Given the description of an element on the screen output the (x, y) to click on. 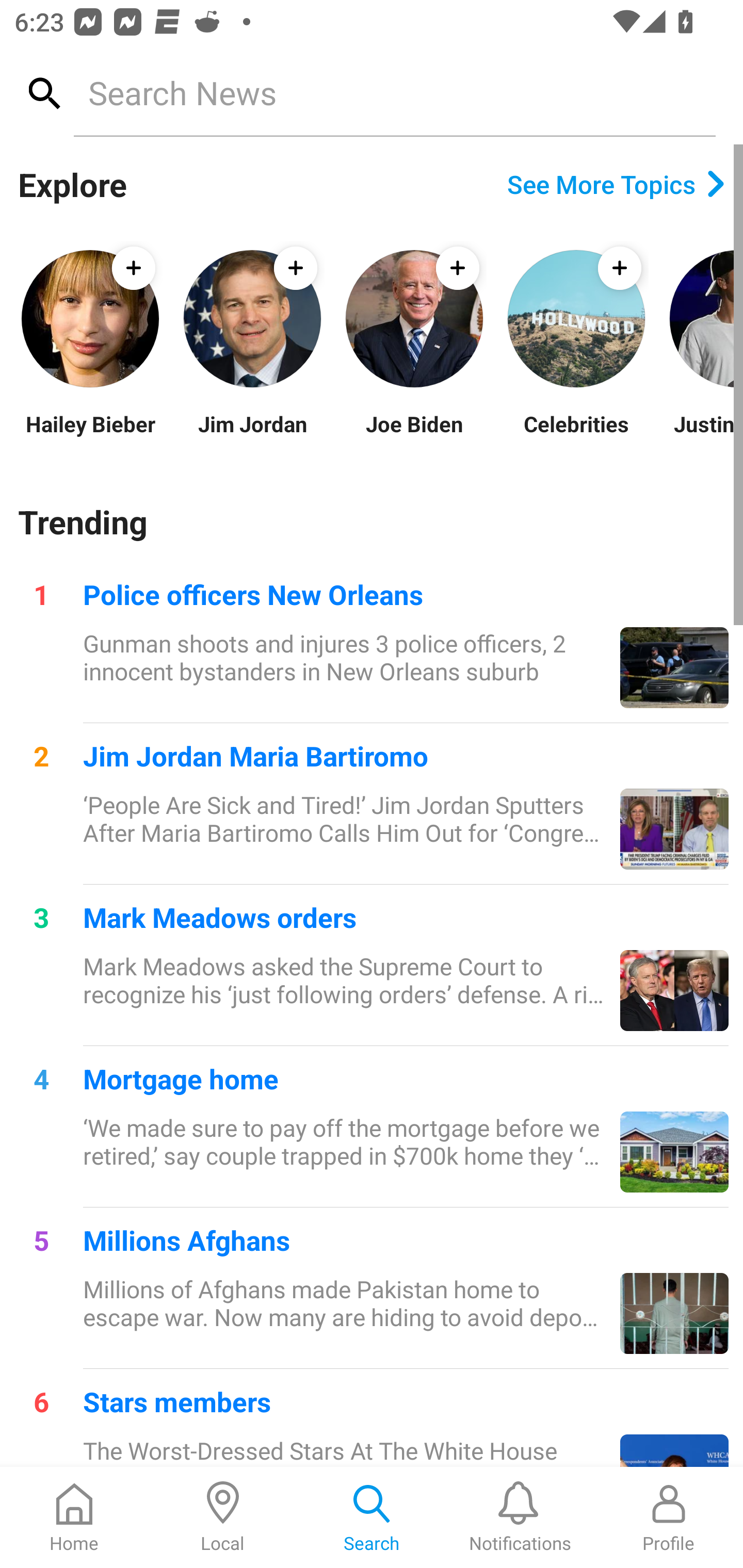
Search News (394, 92)
See More Topics (616, 183)
Hailey Bieber (89, 436)
Jim Jordan (251, 436)
Joe Biden (413, 436)
Celebrities (575, 436)
Justin Bieber (704, 436)
Home (74, 1517)
Local (222, 1517)
Notifications (519, 1517)
Profile (668, 1517)
